Given the description of an element on the screen output the (x, y) to click on. 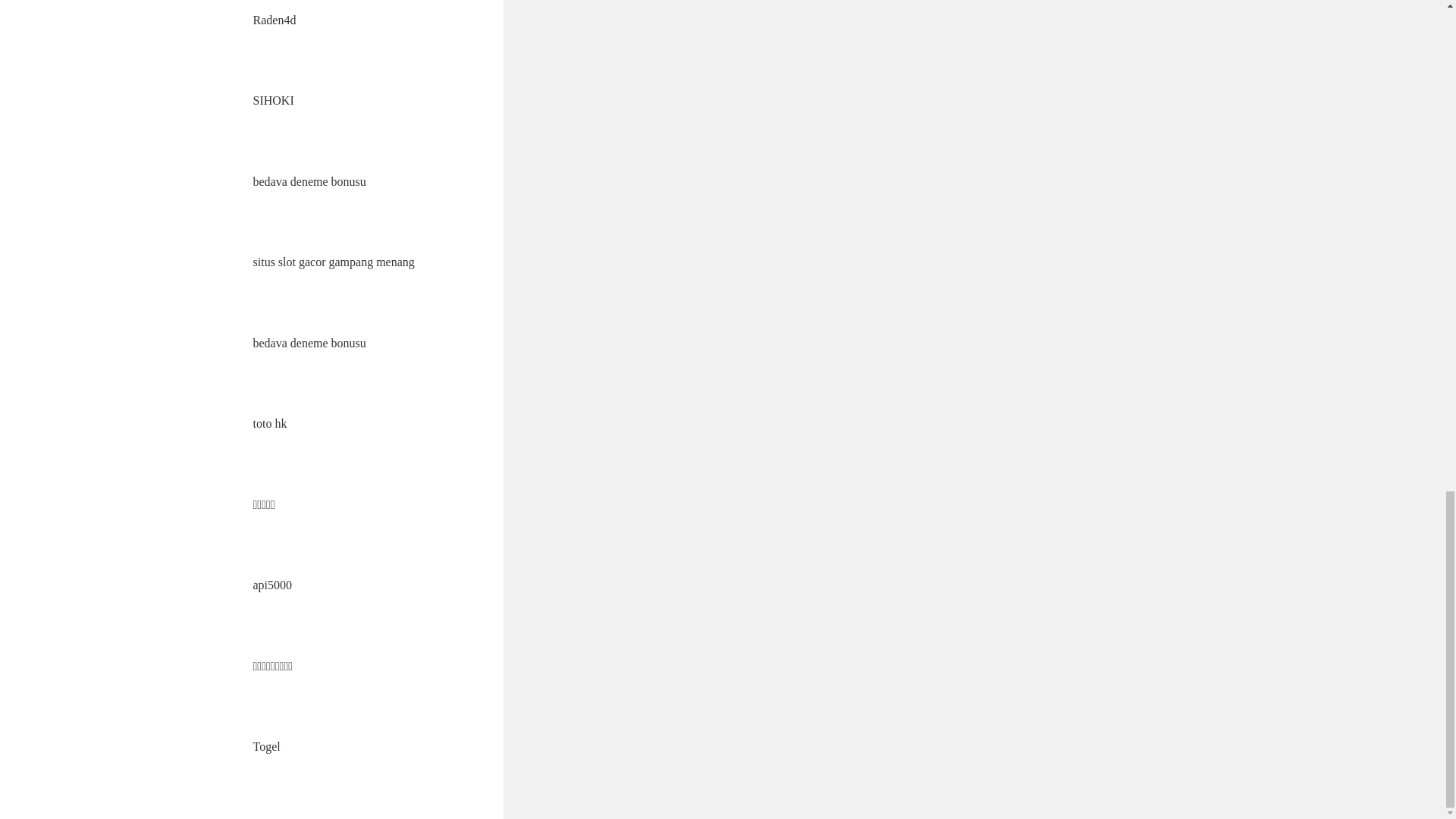
SIHOKI (273, 100)
bedava deneme bonusu (309, 342)
situs slot gacor gampang menang (333, 261)
toto hk (269, 422)
Togel (267, 746)
Raden4d (275, 19)
bedava deneme bonusu (309, 181)
api5000 (272, 584)
